Given the description of an element on the screen output the (x, y) to click on. 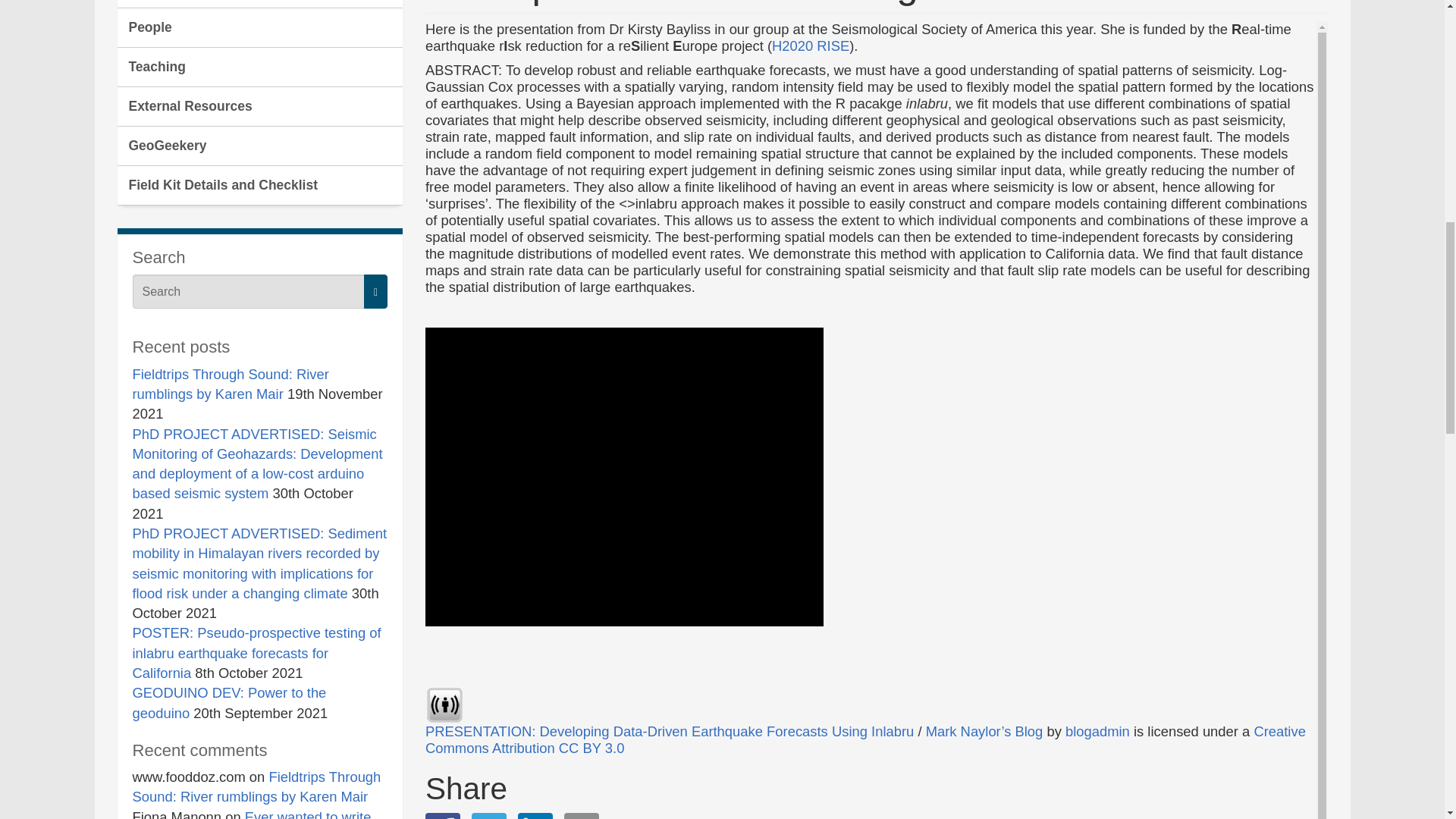
GeoGeekery (259, 146)
Publications (259, 4)
Teaching (259, 66)
Fieldtrips Through Sound: River rumblings by Karen Mair (256, 786)
GeoGeekery (259, 146)
External Resources (259, 106)
People (259, 27)
Publications (259, 4)
Field Kit Details and Checklist (259, 185)
GEODUINO DEV: Power to the geoduino (229, 702)
External Resources (259, 106)
People (259, 27)
Teaching (259, 66)
